Given the description of an element on the screen output the (x, y) to click on. 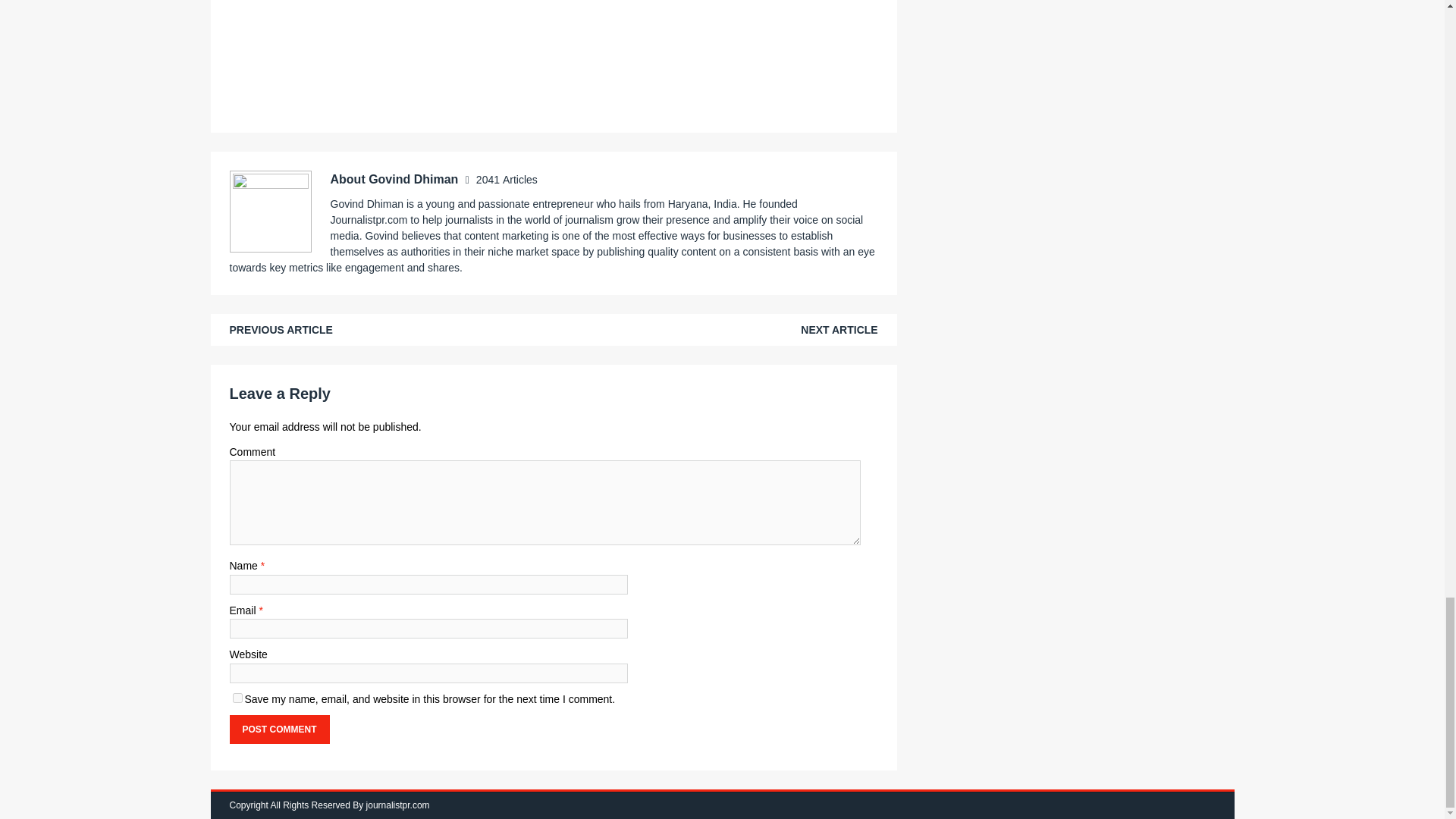
Post Comment (278, 728)
More articles written by Govind Dhiman' (506, 179)
PREVIOUS ARTICLE (279, 329)
NEXT ARTICLE (838, 329)
yes (236, 697)
journalistpr.com (397, 805)
Post Comment (278, 728)
2041 Articles (506, 179)
Advertisement (552, 53)
